Given the description of an element on the screen output the (x, y) to click on. 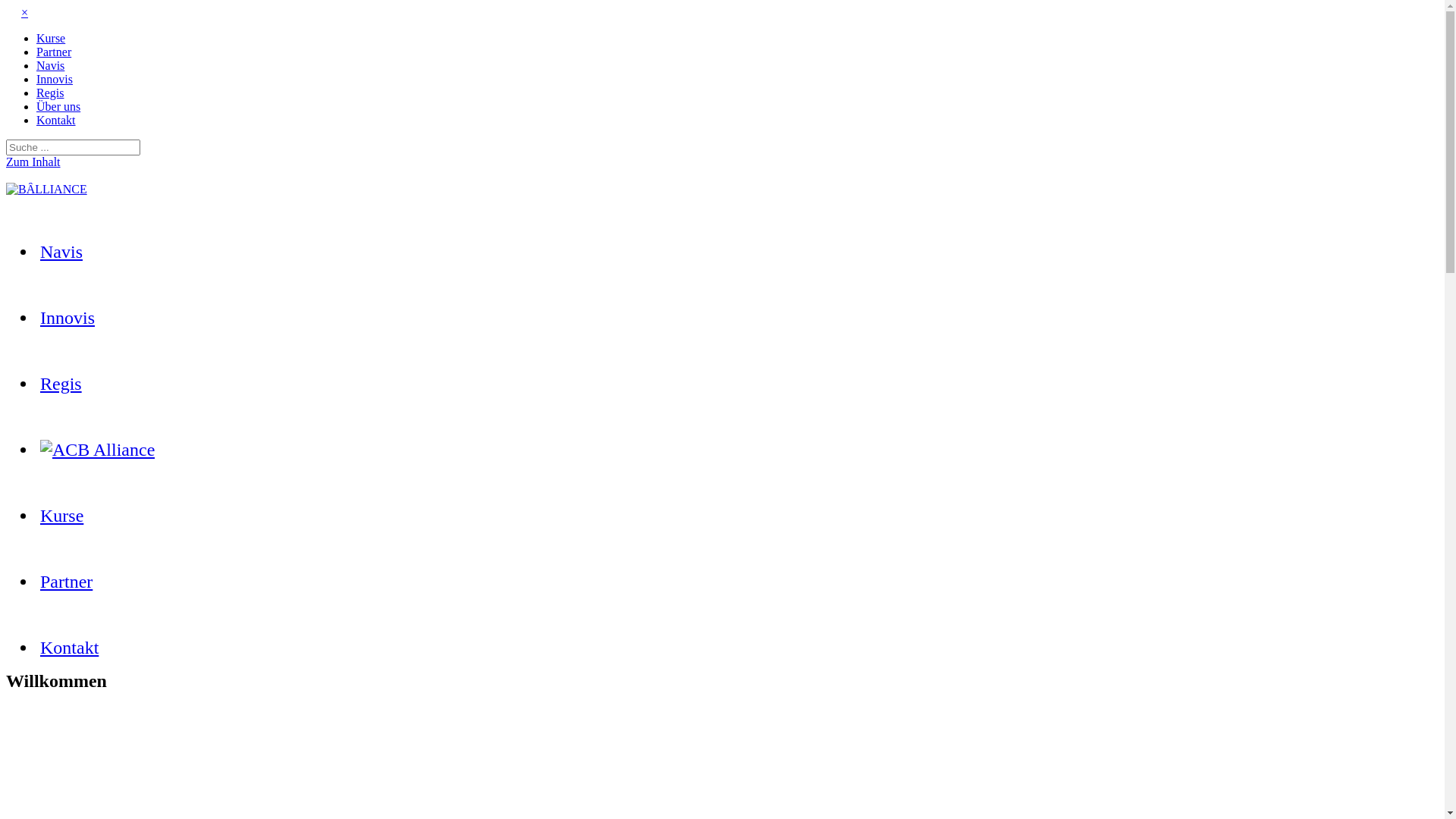
Navis Element type: text (50, 65)
Zum Inhalt Element type: text (33, 161)
Innovis Element type: text (67, 317)
Partner Element type: text (53, 51)
Innovis Element type: text (54, 78)
Kontakt Element type: text (69, 647)
Partner Element type: text (66, 581)
Regis Element type: text (49, 92)
Kontakt Element type: text (55, 119)
Regis Element type: text (60, 383)
Kurse Element type: text (61, 515)
Navis Element type: text (61, 251)
Kurse Element type: text (50, 37)
